Given the description of an element on the screen output the (x, y) to click on. 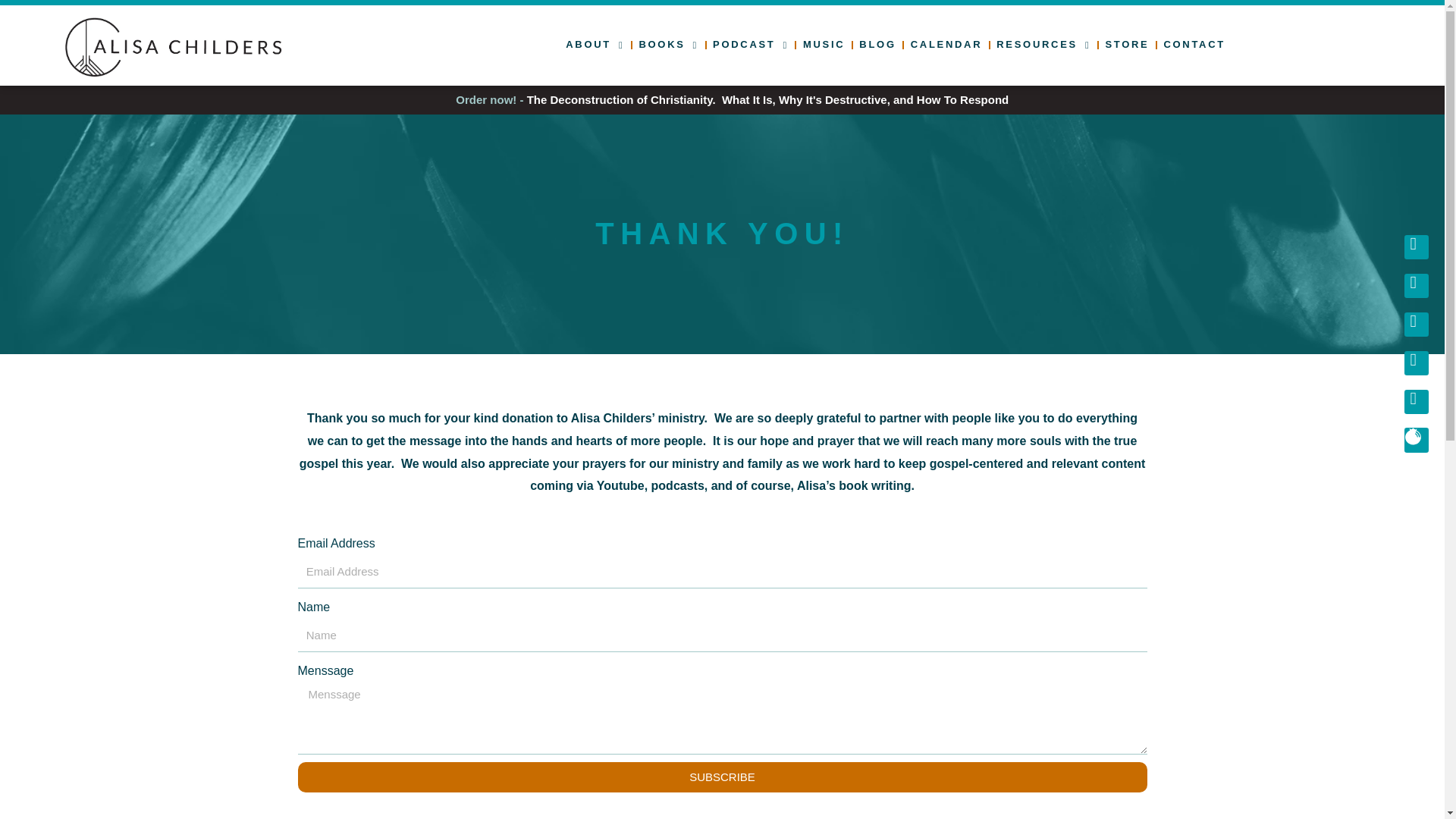
PODCAST (750, 44)
BLOG (877, 44)
BOOKS (667, 44)
RESOURCES (1043, 44)
STORE (1126, 44)
ABOUT (594, 44)
MUSIC (823, 44)
CONTACT (1193, 44)
CALENDAR (947, 44)
